Given the description of an element on the screen output the (x, y) to click on. 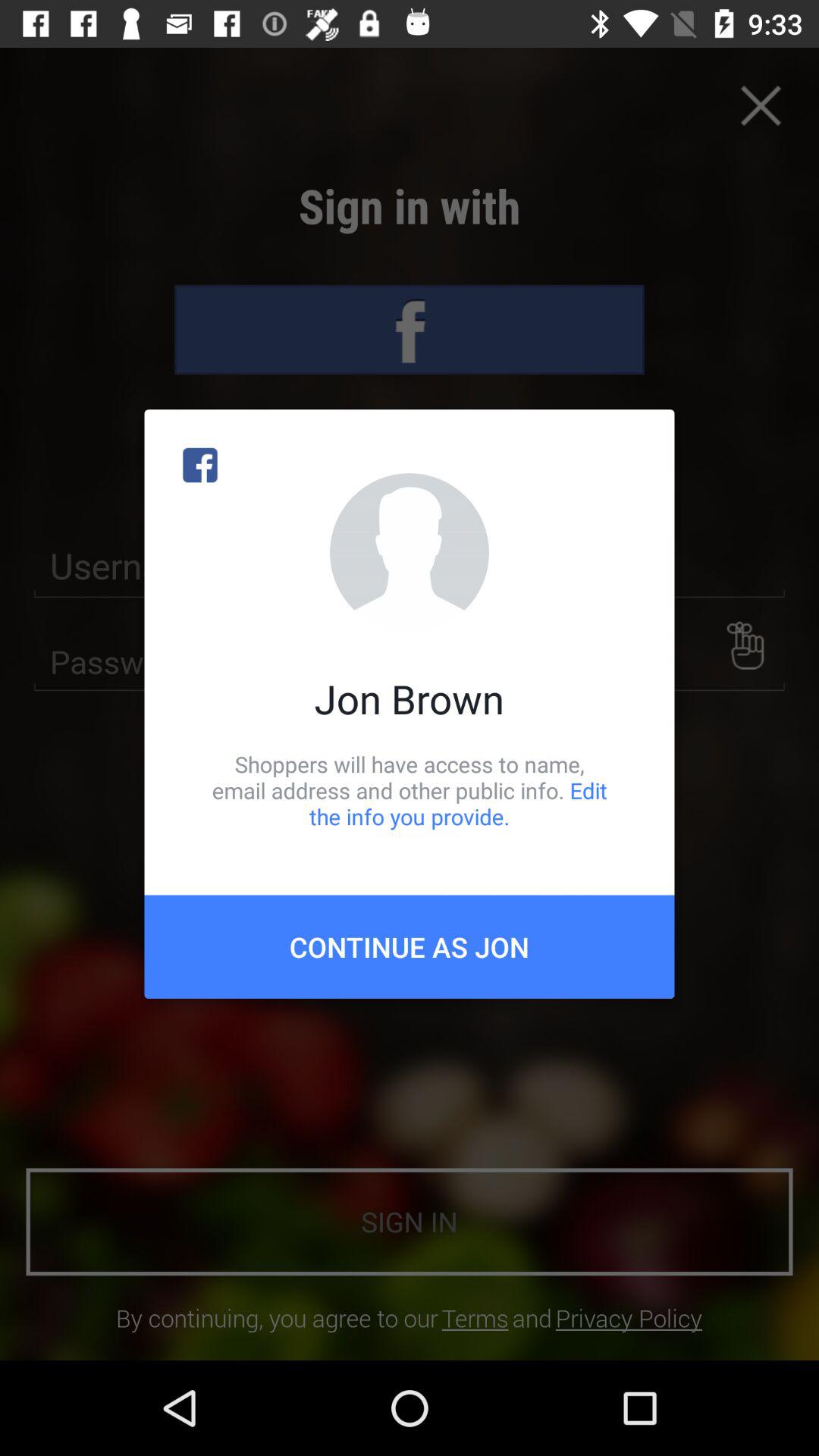
click the continue as jon (409, 946)
